Given the description of an element on the screen output the (x, y) to click on. 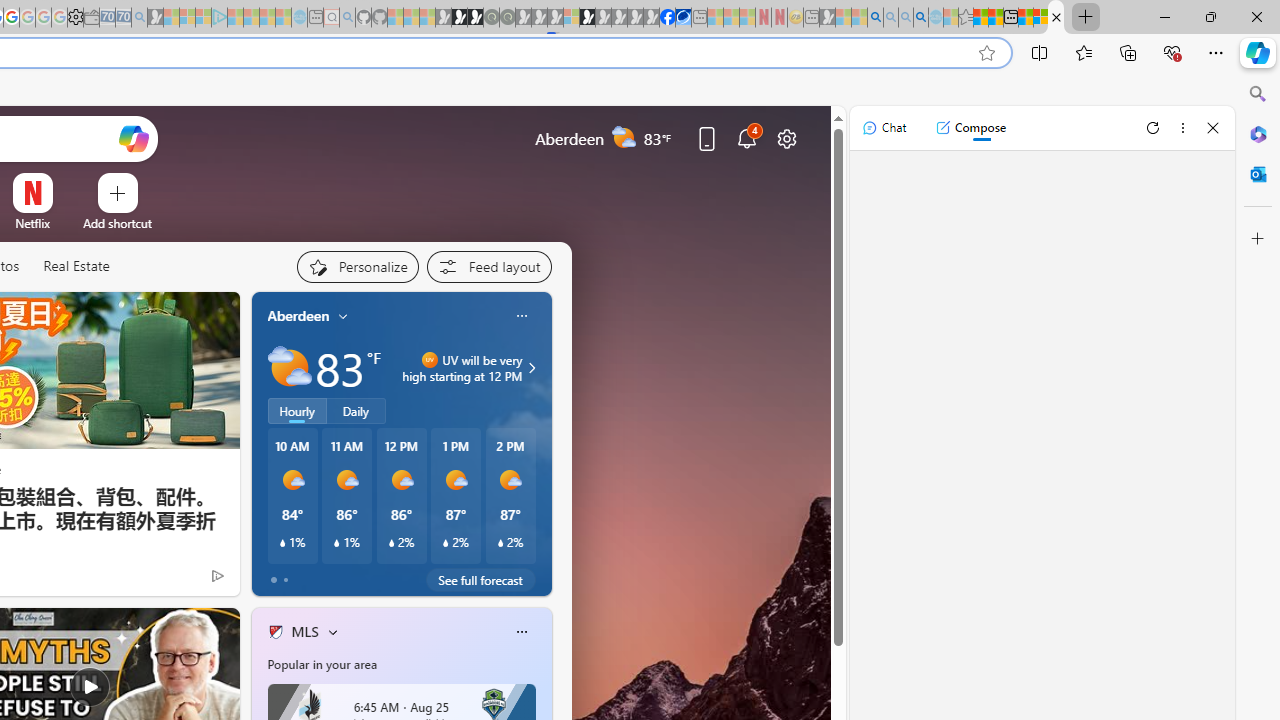
AQI & Health | AirNow.gov (683, 17)
Hourly (296, 411)
Wallet - Sleeping (91, 17)
MLS (304, 631)
tab-1 (285, 579)
Aberdeen, Hong Kong SAR weather forecast | Microsoft Weather (996, 17)
